Given the description of an element on the screen output the (x, y) to click on. 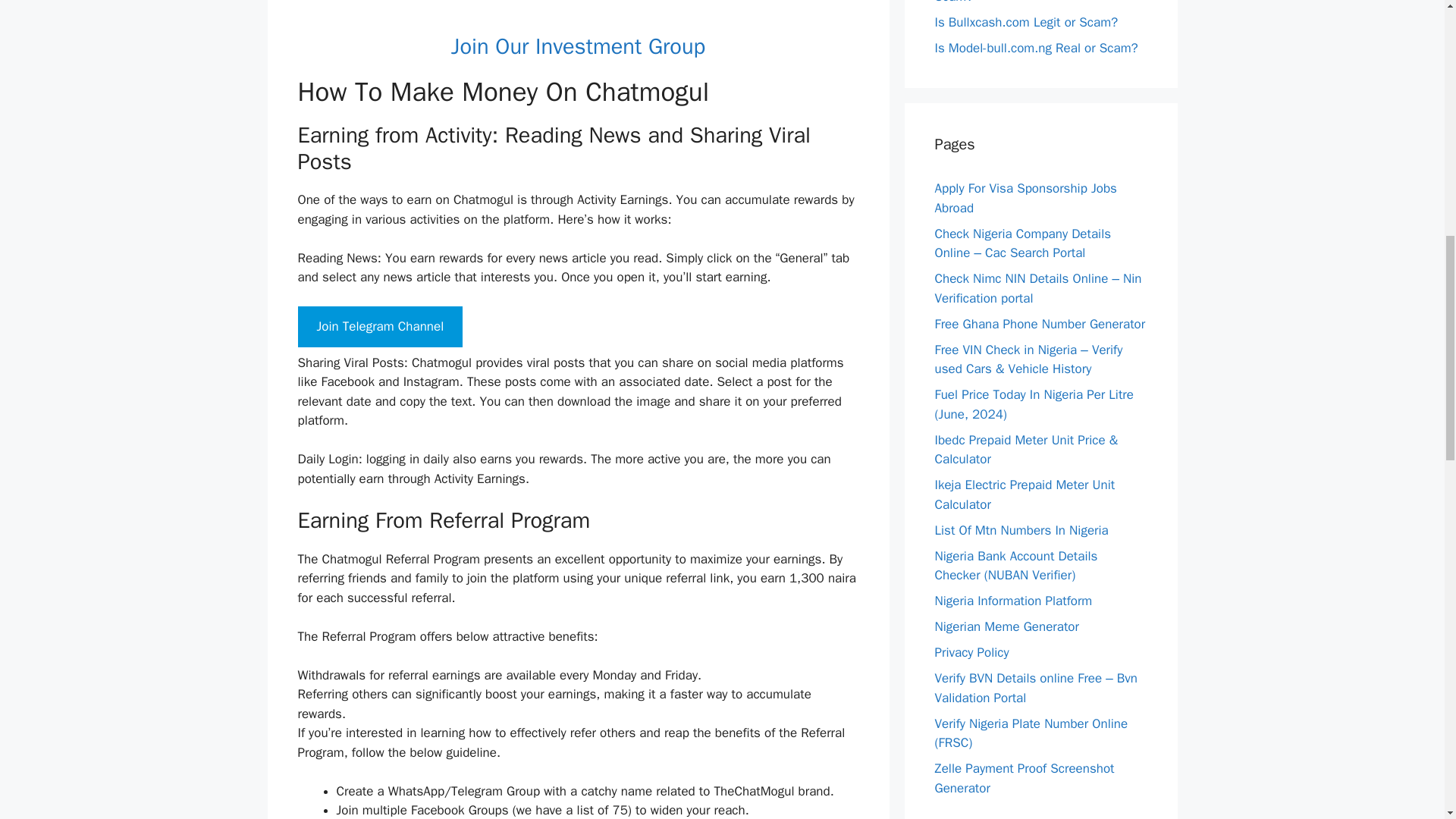
Is Wisdomdomicile.com Real or Scam? (1022, 2)
Is Model-bull.com.ng Real or Scam? (1035, 47)
Ikeja Electric Prepaid Meter Unit Calculator (1024, 494)
Privacy Policy (971, 652)
Join Telegram Channel (380, 326)
Nigeria Information Platform (1013, 600)
List Of Mtn Numbers In Nigeria (1021, 529)
Advertisement (578, 17)
Is Bullxcash.com Legit or Scam? (1026, 21)
Free Ghana Phone Number Generator (1039, 323)
Join Our Investment Group (577, 46)
Nigerian Meme Generator (1006, 626)
Apply For Visa Sponsorship Jobs Abroad (1025, 198)
